Given the description of an element on the screen output the (x, y) to click on. 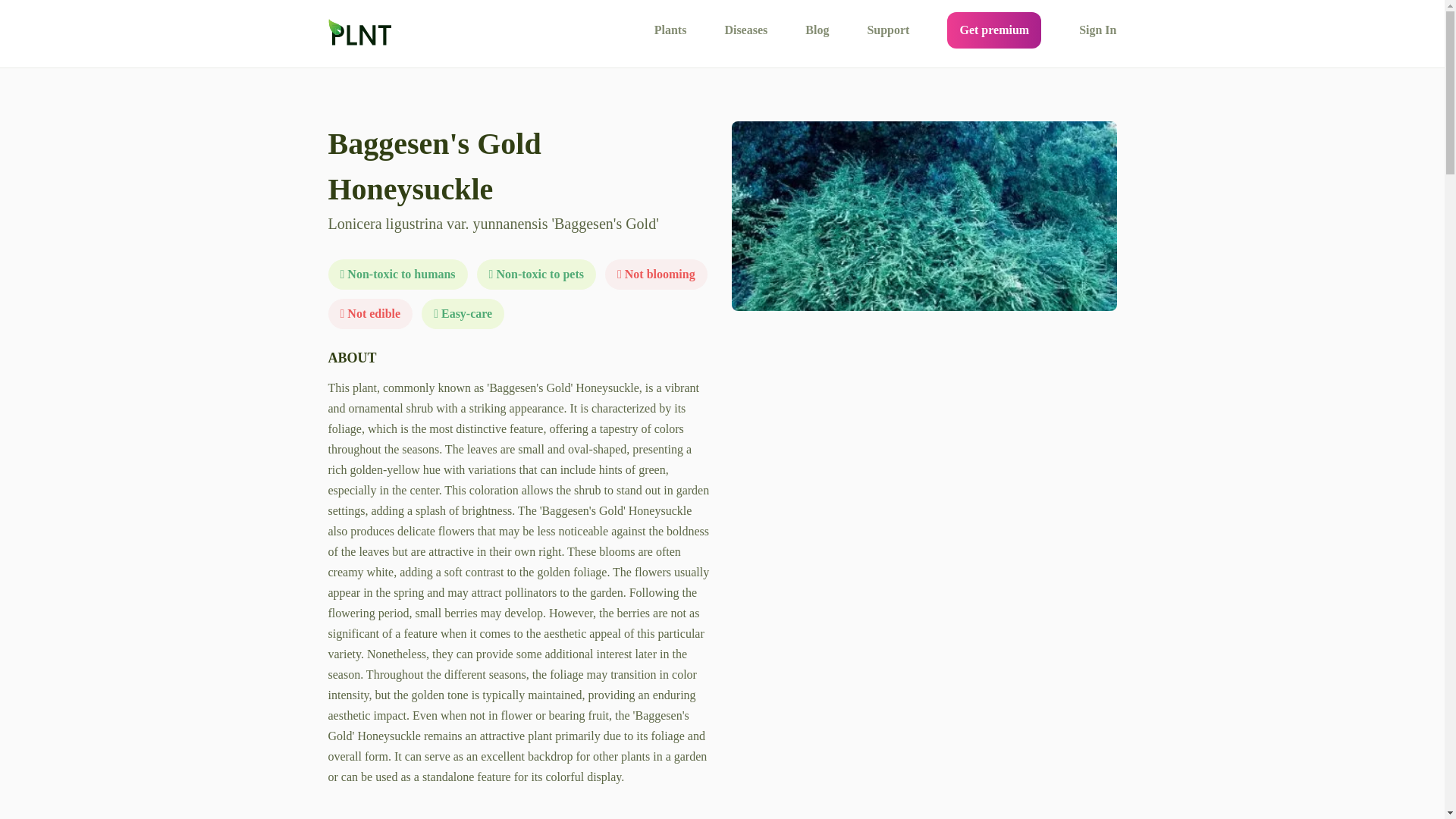
Blog (816, 30)
Support (887, 30)
Get premium (994, 30)
Diseases (745, 30)
Sign In (1097, 30)
Plants (670, 30)
